Given the description of an element on the screen output the (x, y) to click on. 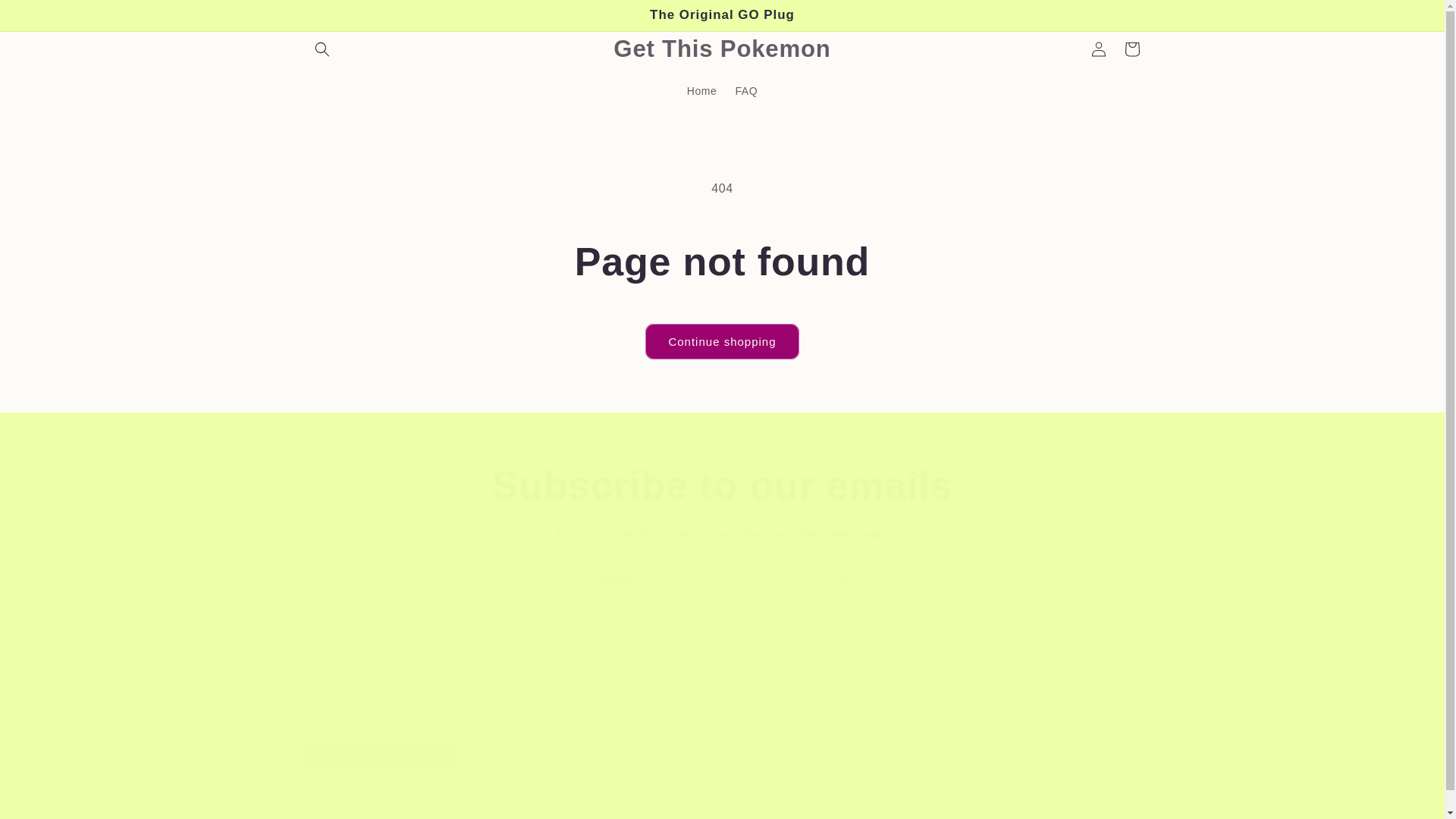
Log in (1098, 49)
Get This Pokemon (721, 48)
Skip to content (45, 17)
Email (722, 579)
Home (702, 90)
Get This Pokemon (379, 808)
Cart (1131, 49)
FAQ (746, 90)
Continue shopping (721, 341)
Subscribe to our emails (721, 485)
